Given the description of an element on the screen output the (x, y) to click on. 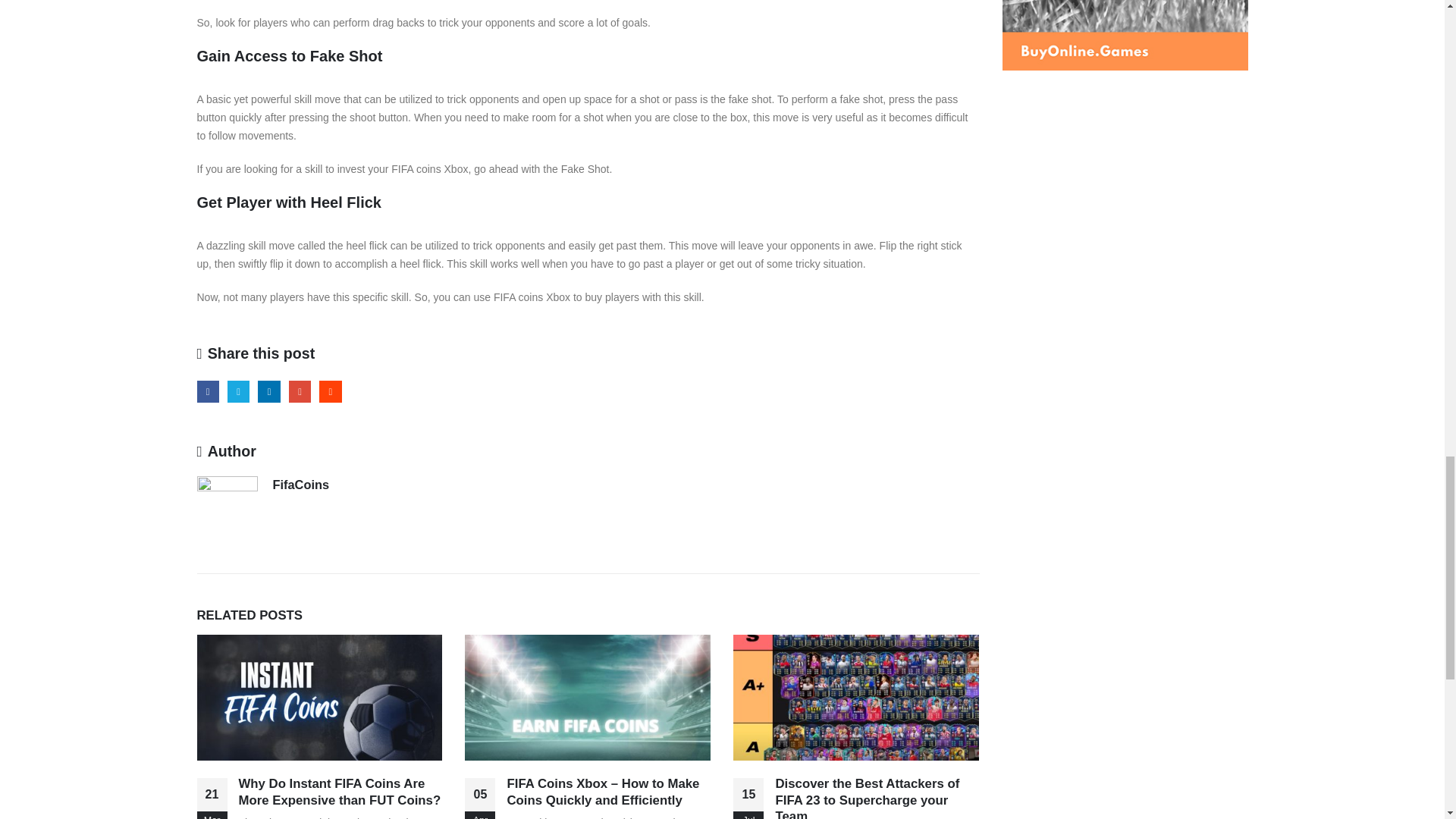
Reddit (329, 391)
Twitter (237, 391)
LinkedIn (268, 391)
Twitter (237, 391)
LinkedIn (268, 391)
FifaCoins (301, 484)
Email (299, 391)
Email (299, 391)
Facebook (207, 391)
Facebook (207, 391)
